Given the description of an element on the screen output the (x, y) to click on. 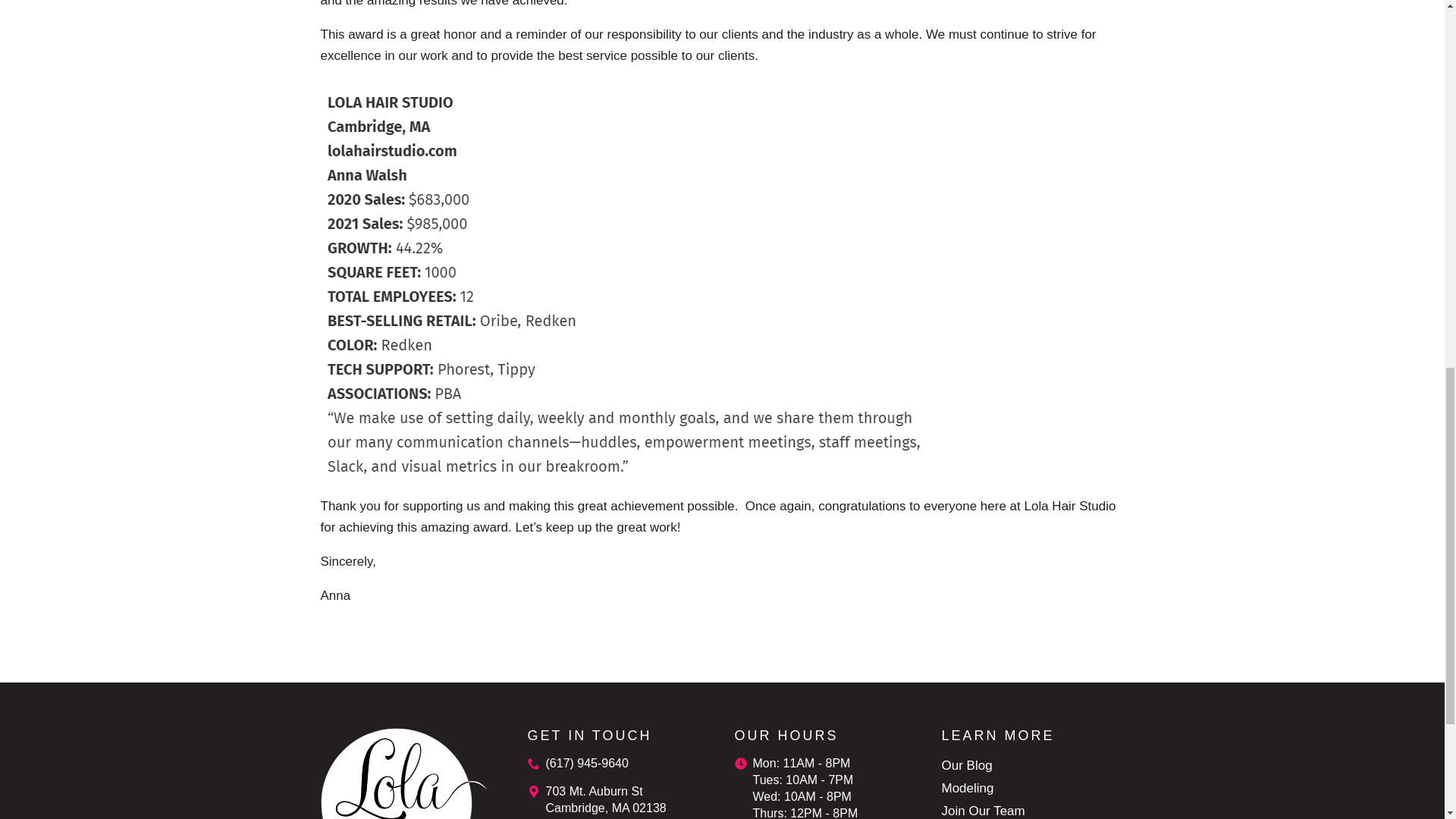
Our Blog (967, 765)
Modeling (968, 788)
Join Our Team (983, 809)
